Given the description of an element on the screen output the (x, y) to click on. 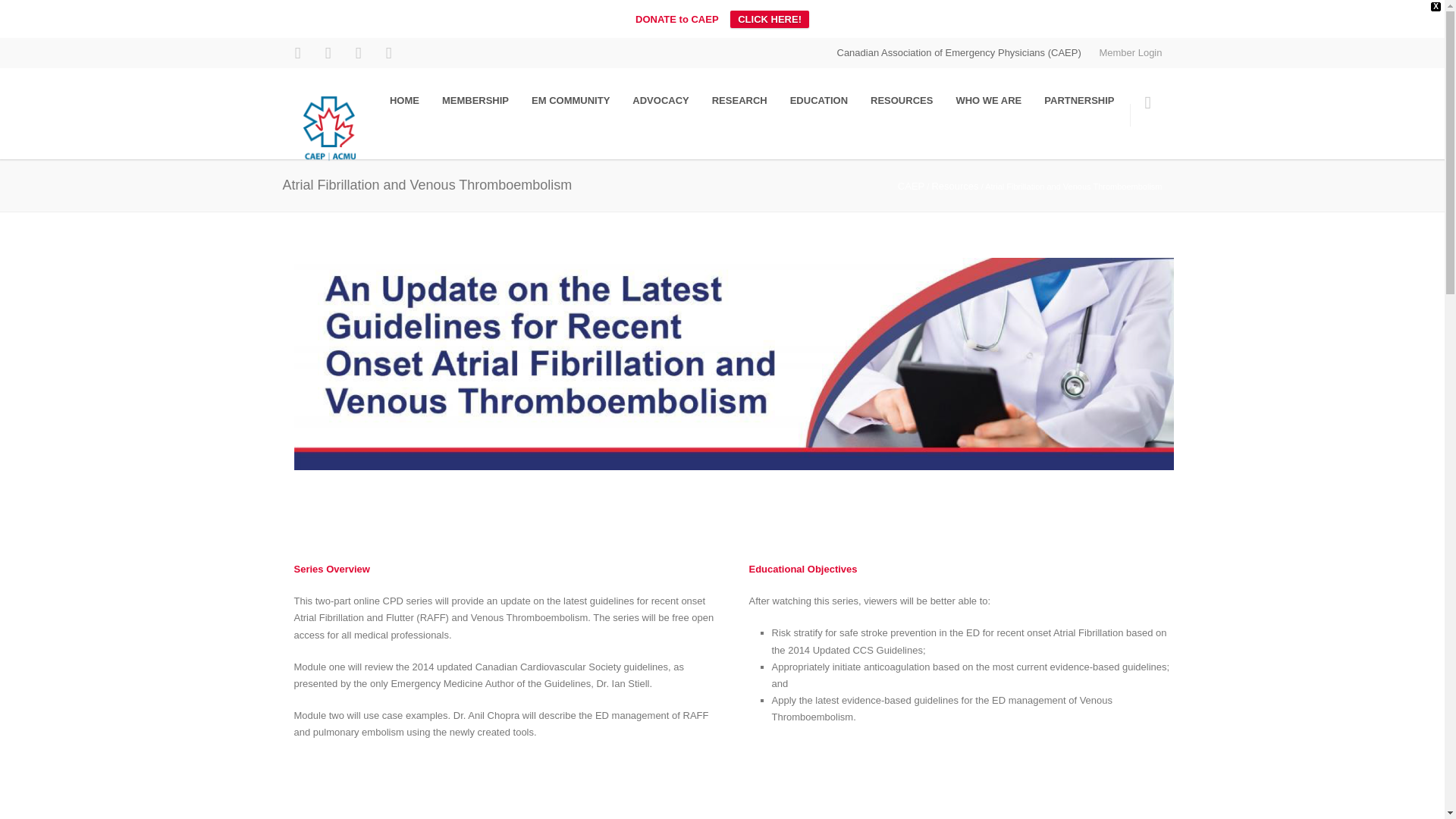
Member Login (1130, 52)
Twitter (387, 52)
MEMBERSHIP (474, 101)
Instagram (327, 52)
CLICK HERE! (769, 18)
Facebook (297, 52)
LinkedIn (357, 52)
EM COMMUNITY (570, 101)
HOME (404, 101)
